Given the description of an element on the screen output the (x, y) to click on. 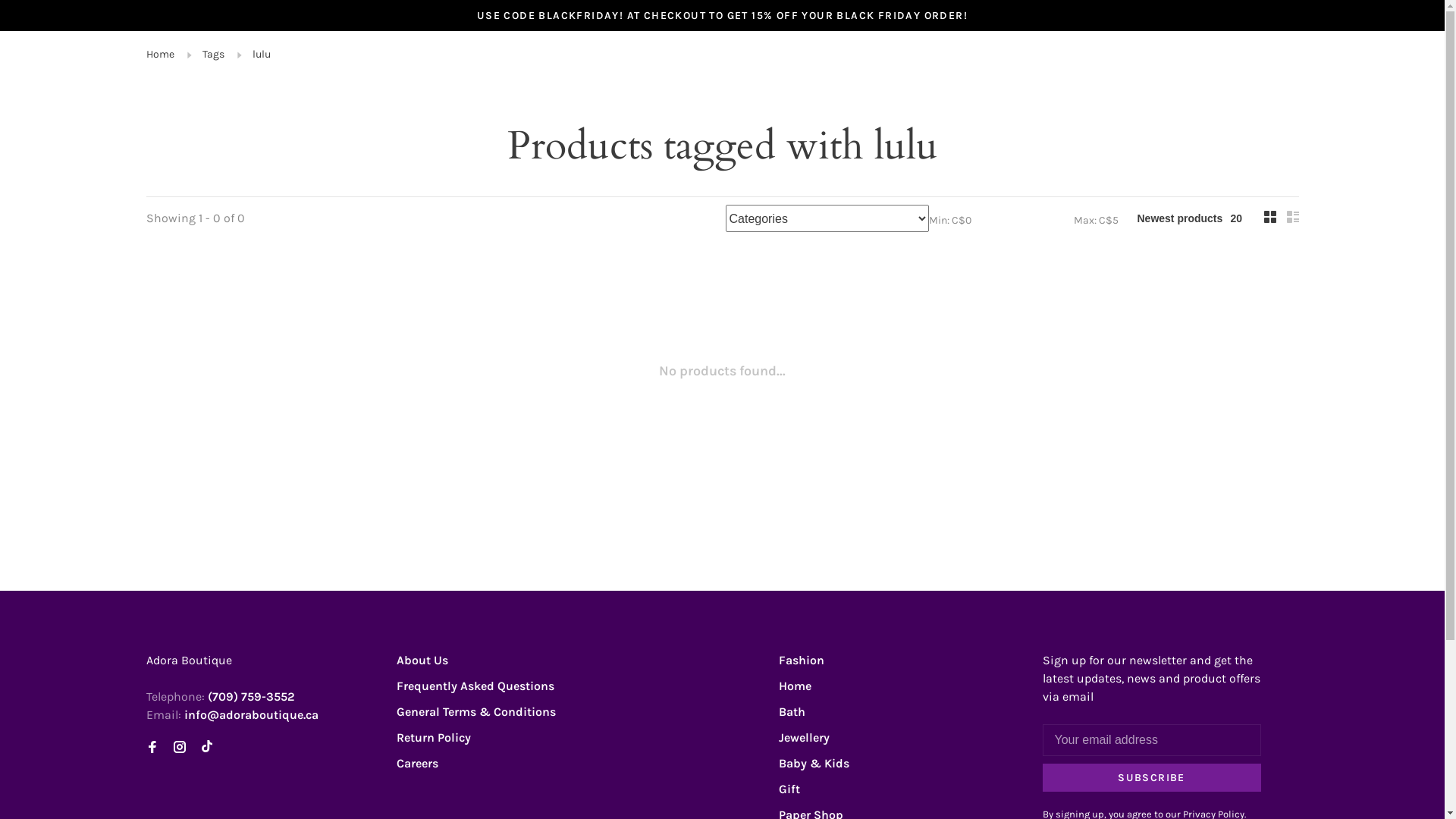
Tags Element type: text (212, 53)
Careers Element type: text (416, 763)
Instagram Adora Boutique Element type: hover (178, 747)
Jewellery Element type: text (803, 737)
SUBSCRIBE Element type: text (1150, 777)
Home Element type: text (794, 685)
Home Element type: text (159, 53)
Gift Element type: text (788, 788)
General Terms & Conditions Element type: text (475, 711)
Email: info@adoraboutique.ca Element type: text (231, 714)
lulu Element type: text (260, 53)
Fashion Element type: text (800, 659)
Adora Boutique Element type: hover (699, 661)
About Us Element type: text (421, 659)
Telephone: (709) 759-3552 Element type: text (219, 696)
Baby & Kids Element type: text (813, 763)
Facebook Element type: hover (151, 747)
Frequently Asked Questions Element type: text (474, 685)
Return Policy Element type: text (432, 737)
TikTok Element type: text (206, 747)
Bath Element type: text (791, 711)
